Given the description of an element on the screen output the (x, y) to click on. 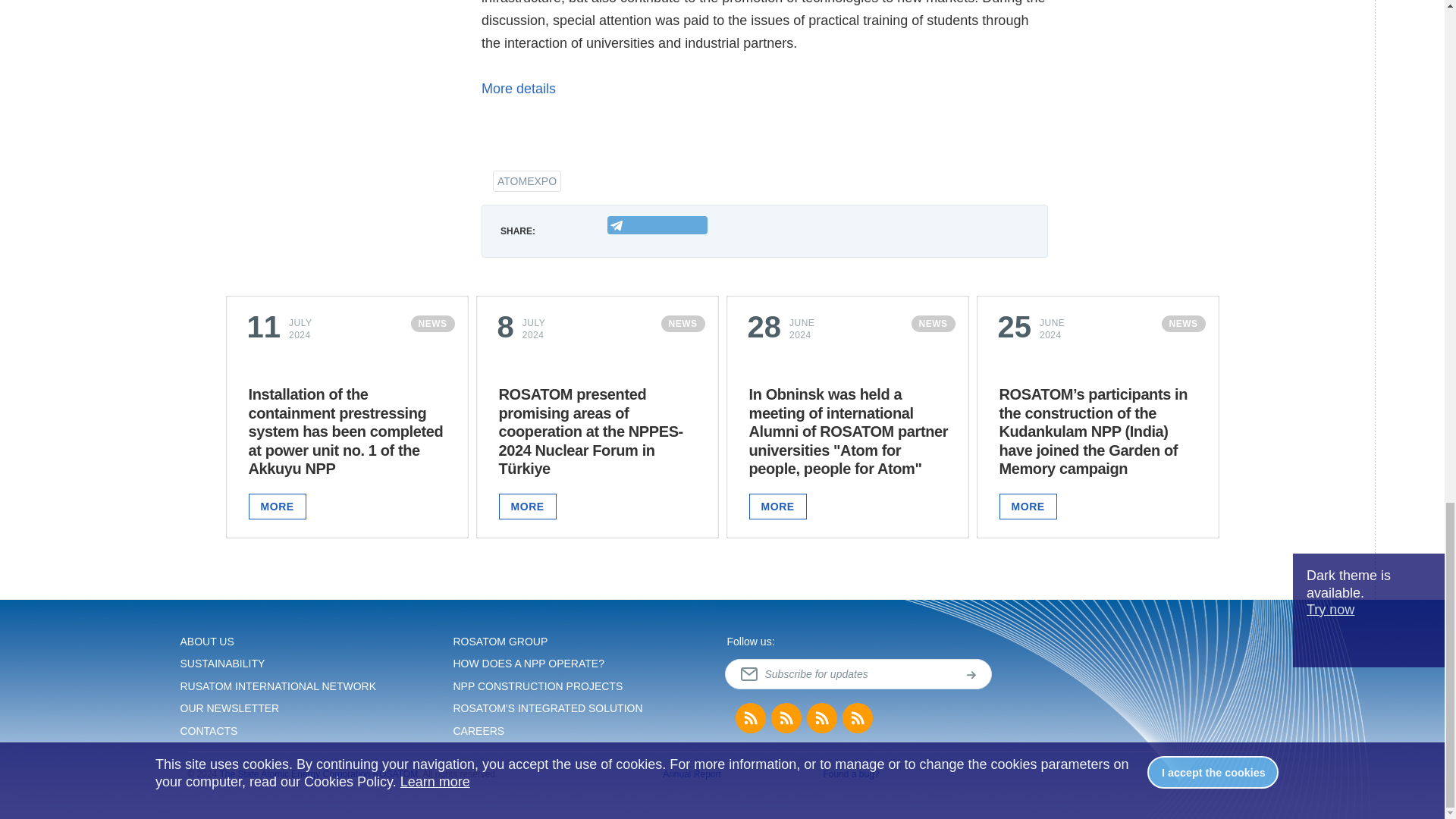
Nuclear Industry in the Media (785, 717)
News (750, 717)
Atom: News (821, 717)
Telegram (656, 224)
Atom: Nuclear Industry in the Media (856, 717)
